Given the description of an element on the screen output the (x, y) to click on. 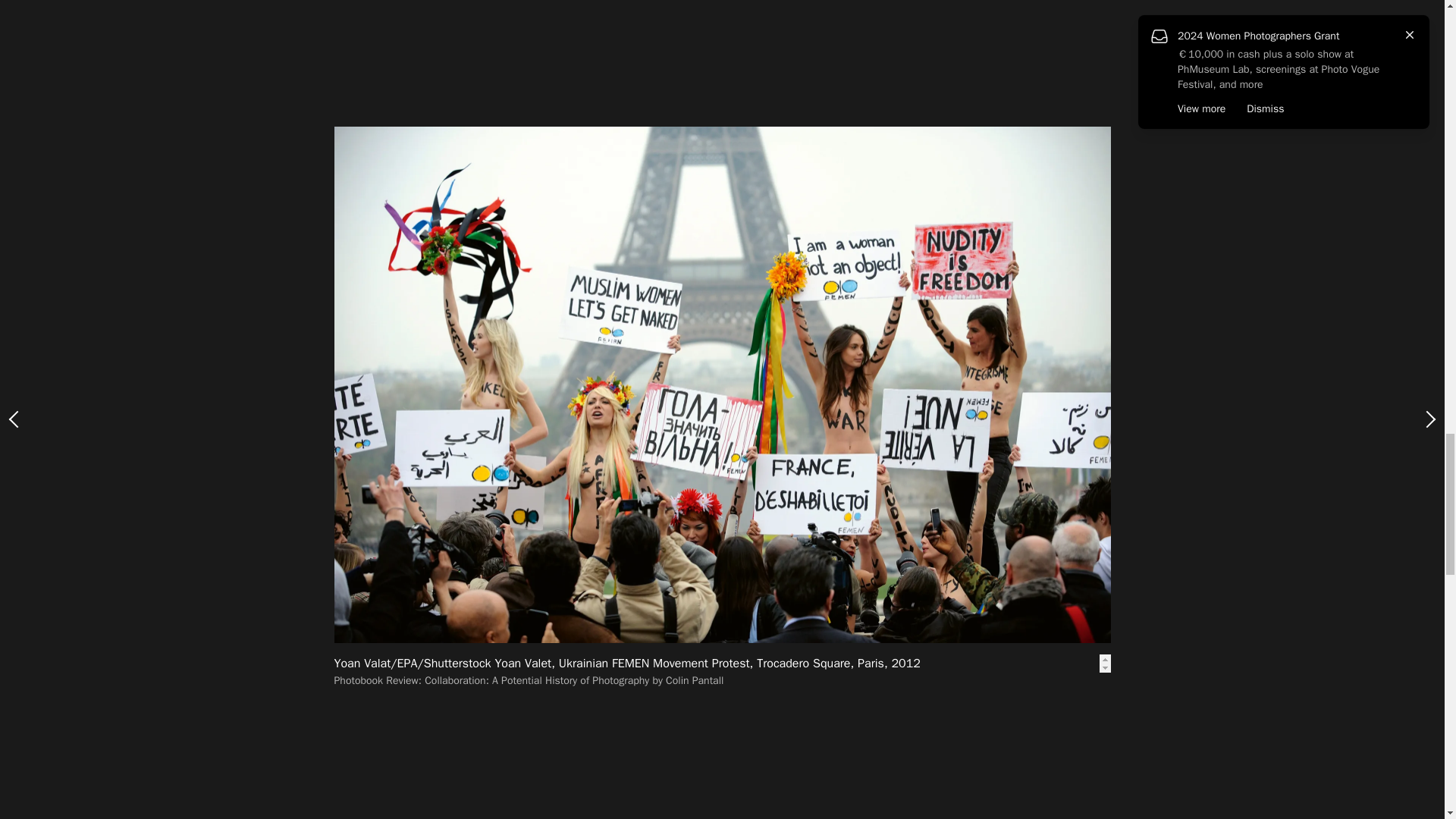
latest online courses begin in January 2024 (548, 258)
Collaboration: A Potential History of Photography (525, 68)
Instagram (540, 265)
Colin Pantall (430, 235)
